Given the description of an element on the screen output the (x, y) to click on. 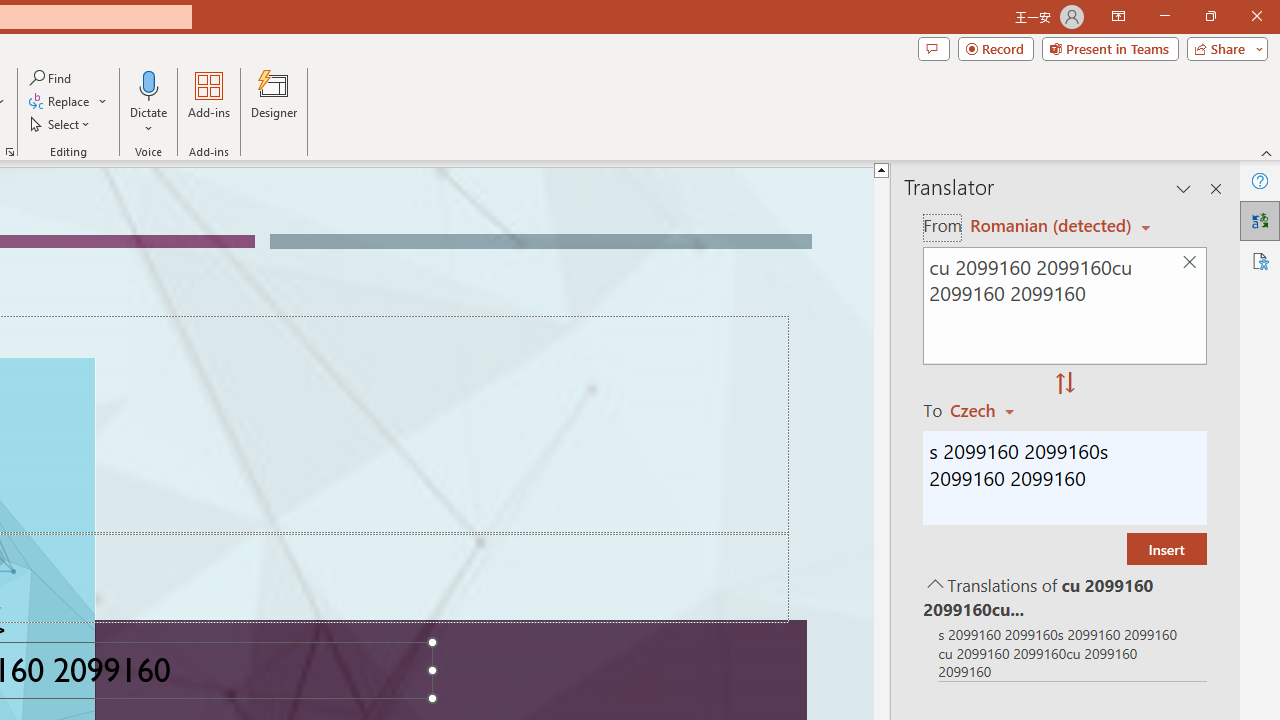
Translations of cu 2099160 2099160cu 2099160 2099160 (1064, 596)
Clear text (1189, 262)
